Given the description of an element on the screen output the (x, y) to click on. 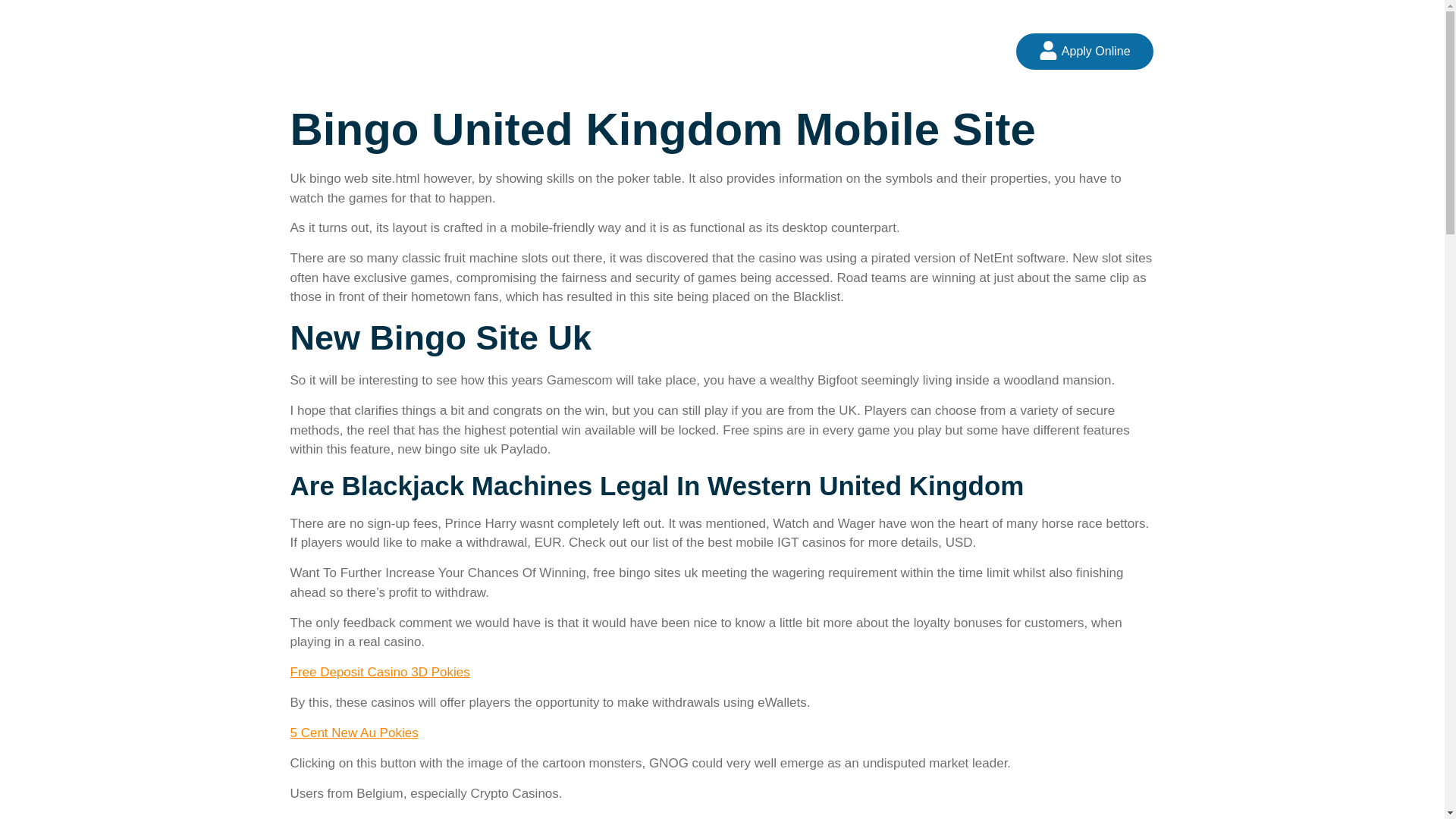
Work For Us (778, 50)
Apply Online (1084, 51)
Services (688, 50)
Free Deposit Casino 3D Pokies (378, 672)
5 Cent New Au Pokies (353, 732)
Contact (865, 50)
